Given the description of an element on the screen output the (x, y) to click on. 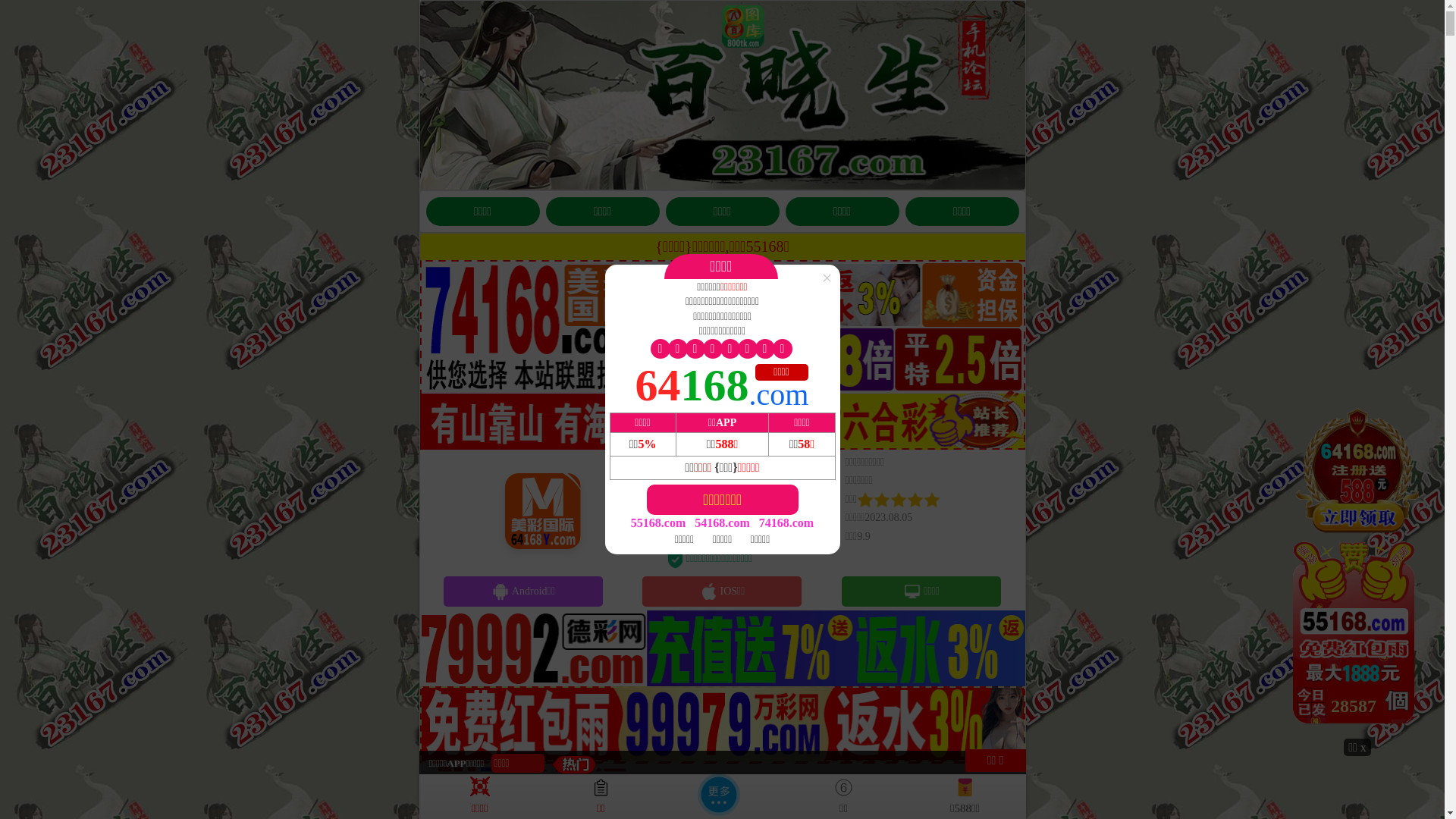
27822 Element type: text (1356, 570)
